Given the description of an element on the screen output the (x, y) to click on. 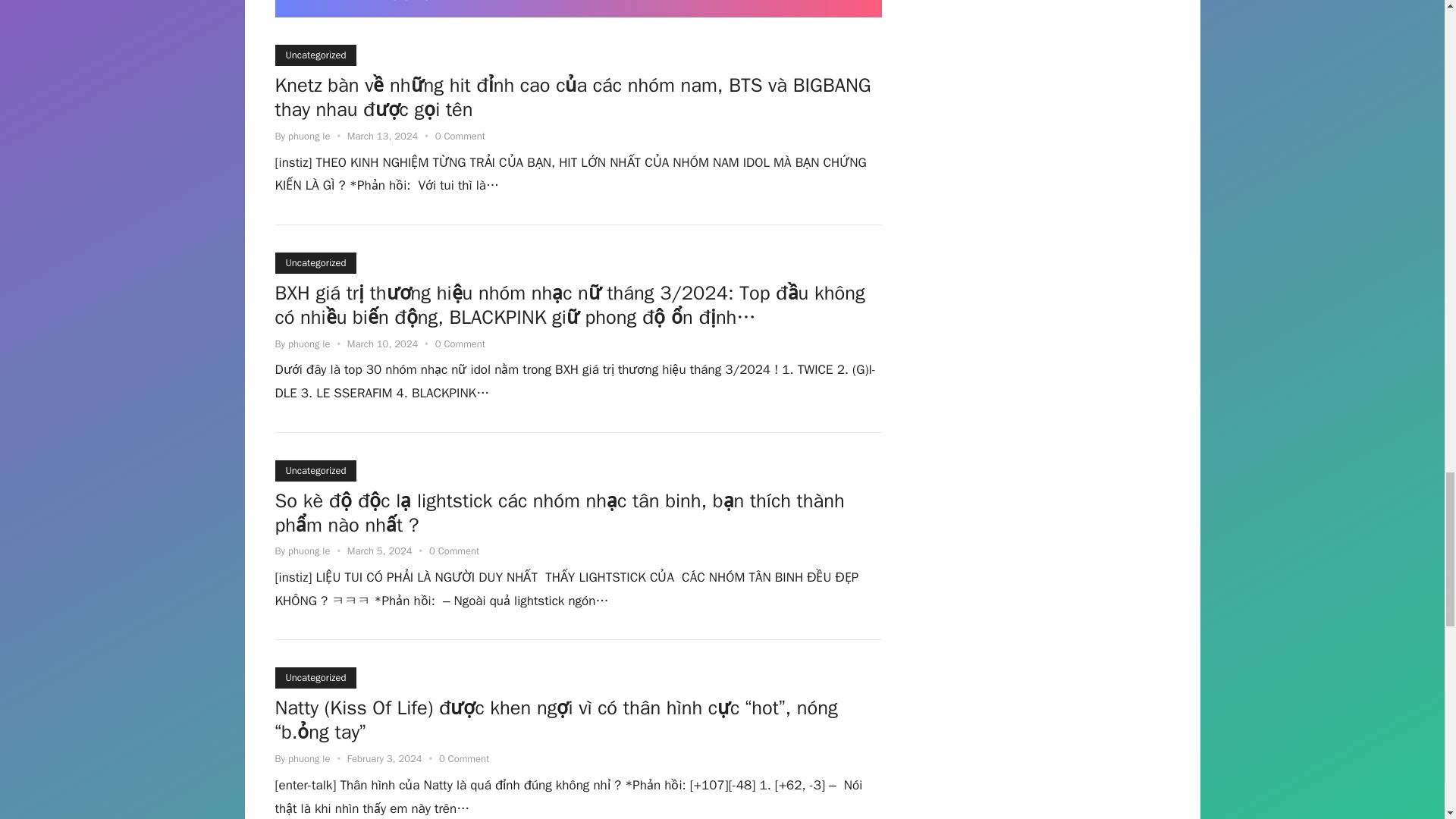
0 Comment (454, 550)
Posts by phuong le (309, 135)
Uncategorized (315, 262)
0 Comment (459, 343)
phuong le (309, 135)
Posts by phuong le (309, 343)
phuong le (309, 550)
phuong le (309, 343)
Uncategorized (315, 677)
Posts by phuong le (309, 550)
Uncategorized (315, 470)
0 Comment (459, 135)
0 Comment (464, 758)
phuong le (309, 758)
Uncategorized (315, 55)
